Given the description of an element on the screen output the (x, y) to click on. 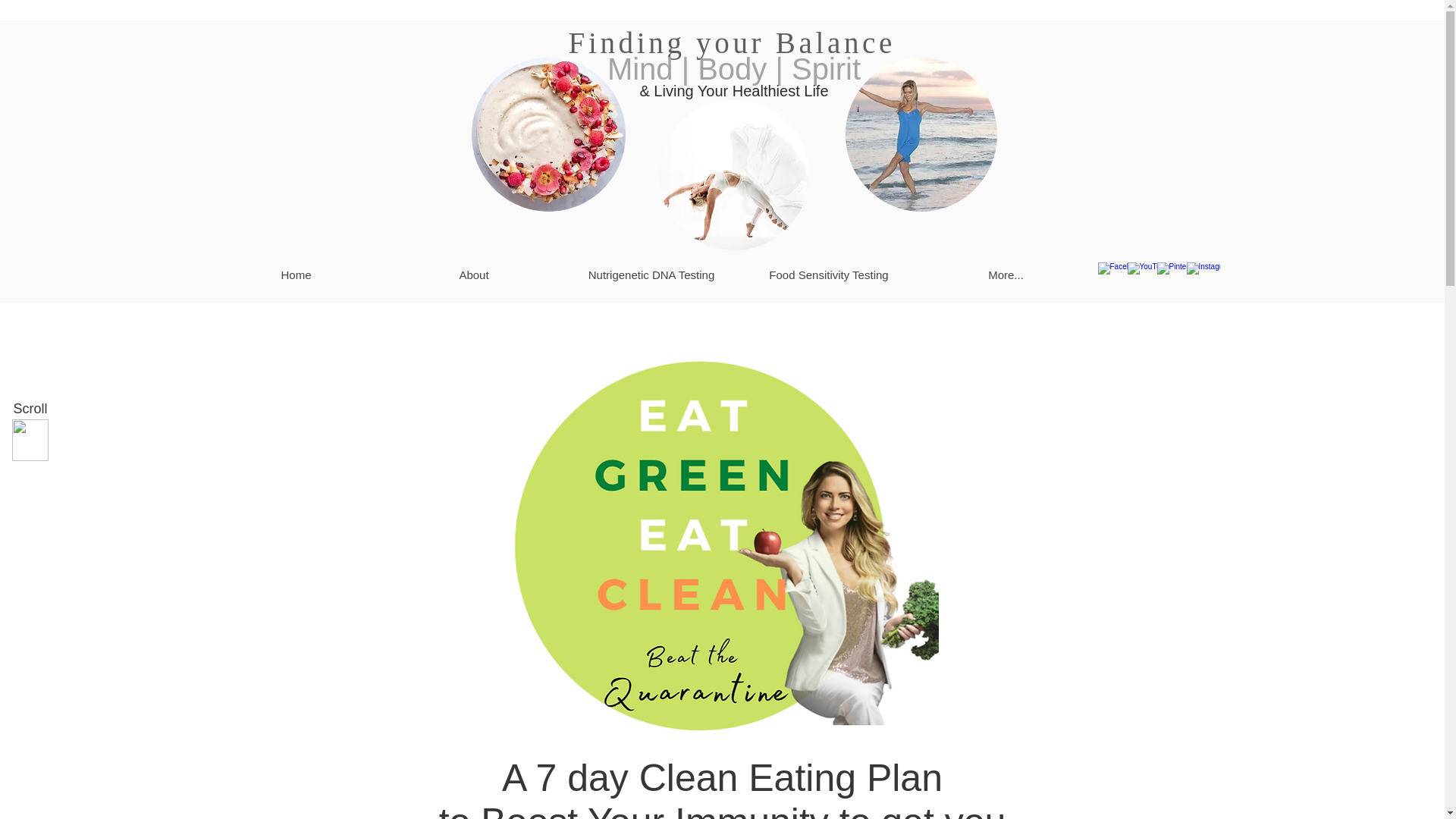
About (473, 274)
Home (296, 274)
Scroll (29, 409)
Nutrigenetic DNA Testing (650, 274)
Food Sensitivity Testing (828, 274)
